Given the description of an element on the screen output the (x, y) to click on. 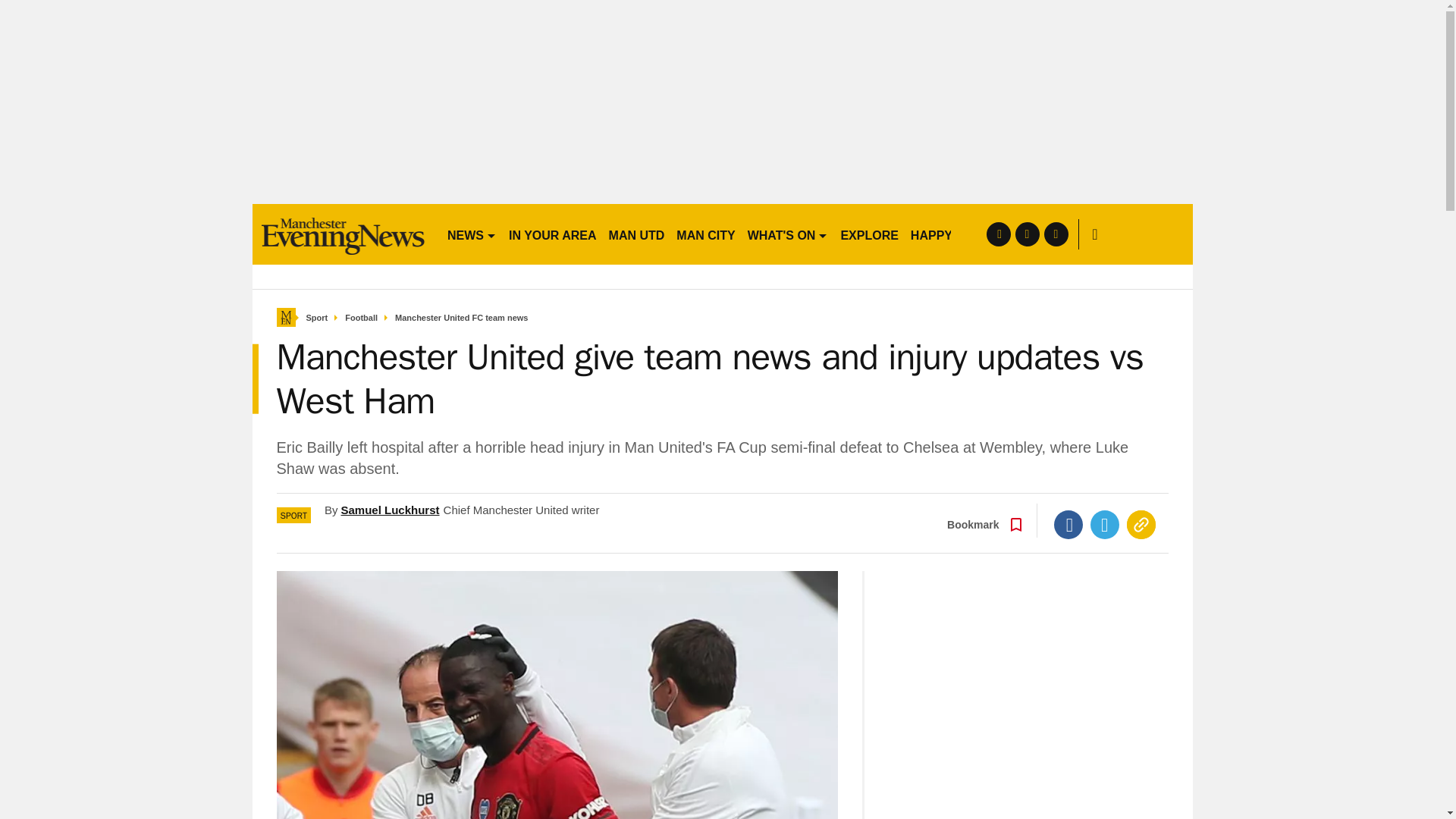
facebook (997, 233)
MAN UTD (636, 233)
NEWS (471, 233)
Twitter (1104, 524)
MAN CITY (705, 233)
IN YOUR AREA (552, 233)
twitter (1026, 233)
Facebook (1068, 524)
men (342, 233)
WHAT'S ON (787, 233)
instagram (1055, 233)
